Given the description of an element on the screen output the (x, y) to click on. 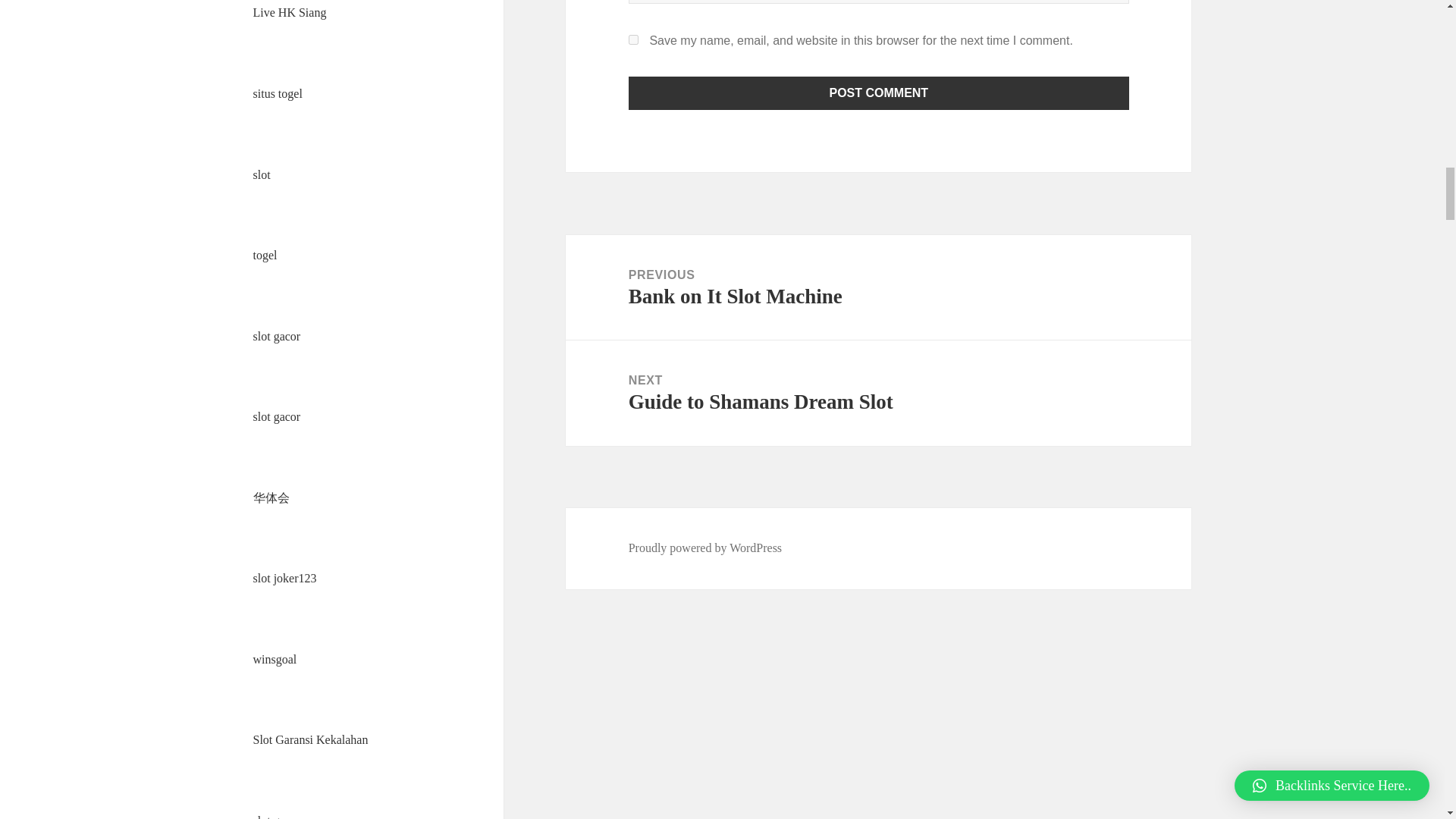
Post Comment (878, 92)
yes (633, 40)
